Given the description of an element on the screen output the (x, y) to click on. 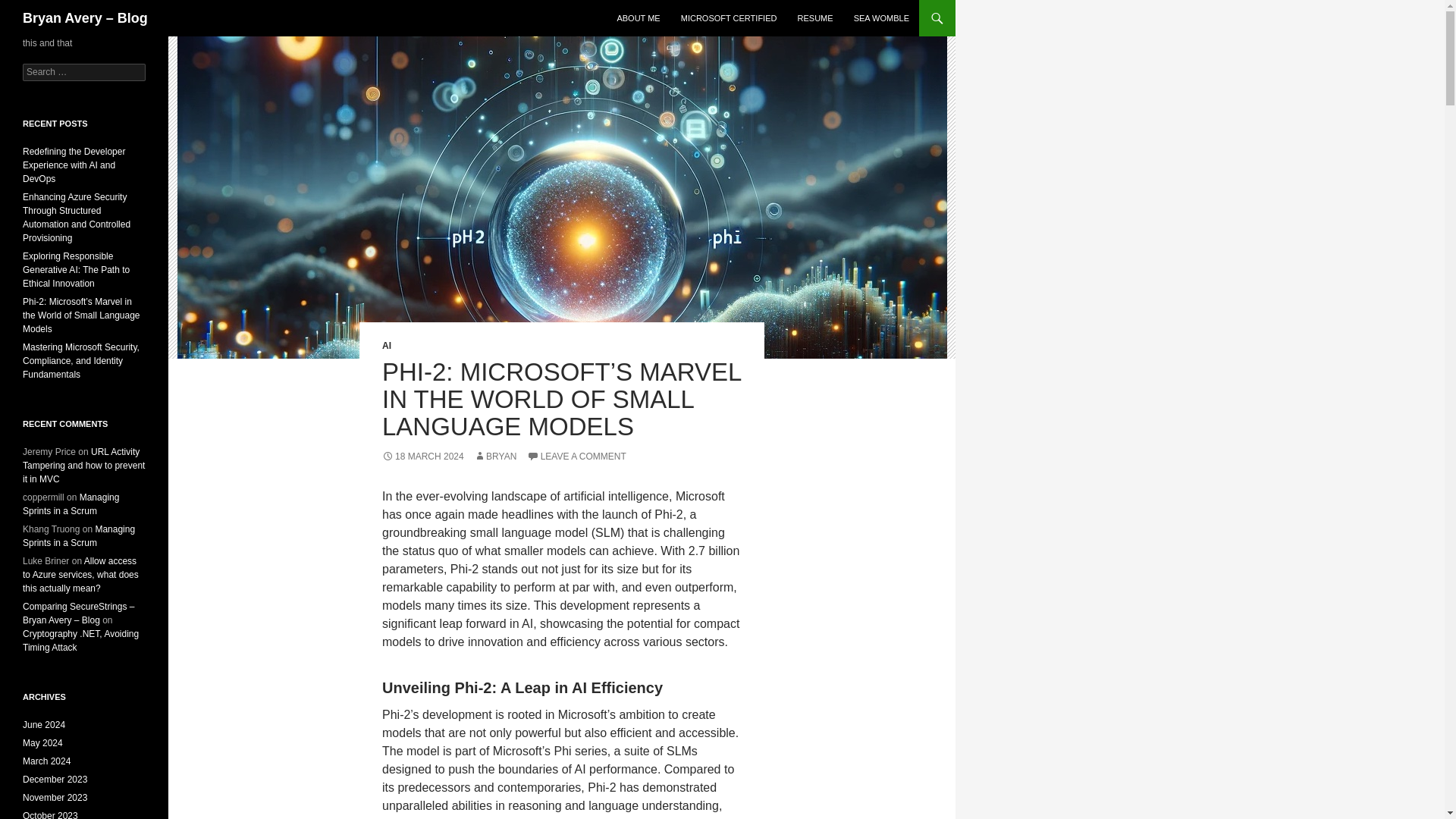
March 2024 (46, 760)
LEAVE A COMMENT (576, 456)
December 2023 (55, 778)
November 2023 (55, 797)
BRYAN (495, 456)
URL Activity Tampering and how to prevent it in MVC (83, 465)
18 MARCH 2024 (422, 456)
Managing Sprints in a Scrum (71, 504)
June 2024 (44, 724)
